Given the description of an element on the screen output the (x, y) to click on. 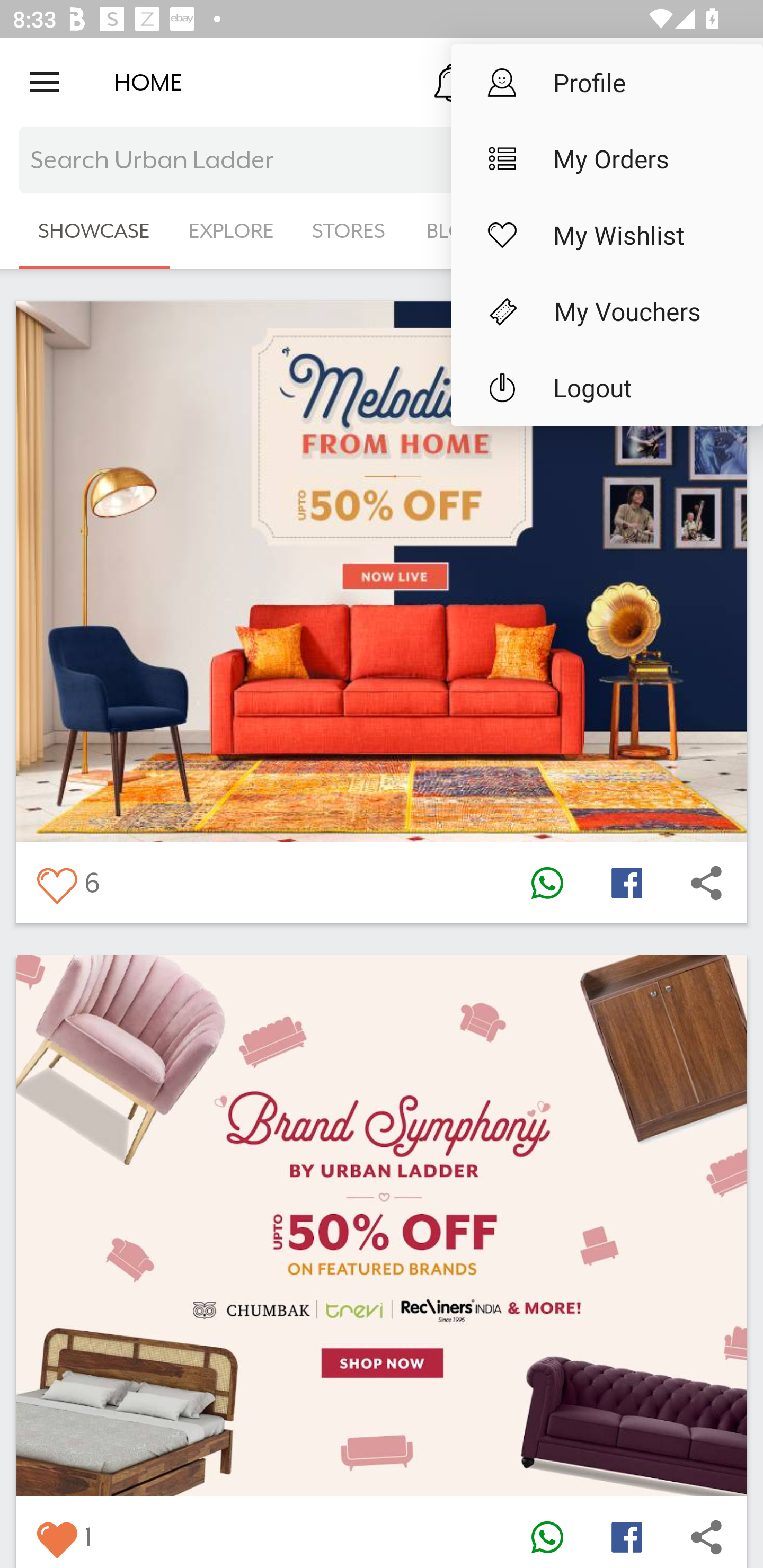
Profile (607, 81)
My Orders (607, 158)
My Wishlist (607, 234)
My Vouchers (607, 310)
Logout (607, 387)
